Given the description of an element on the screen output the (x, y) to click on. 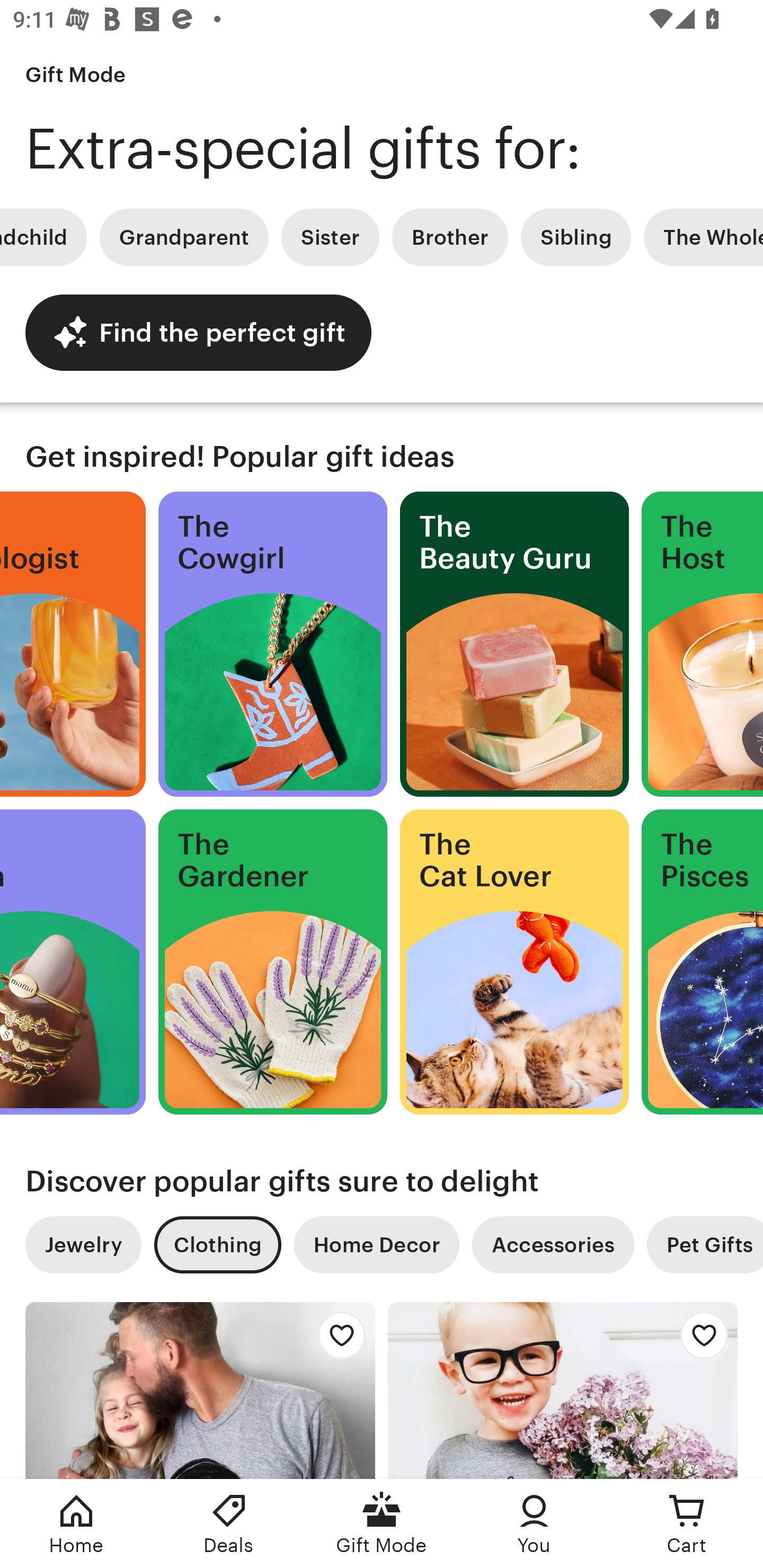
Grandparent (183, 237)
Sister (330, 237)
Brother (450, 237)
Sibling (576, 237)
Find the perfect gift (198, 332)
The Cowgirl (272, 644)
The Beauty Guru (513, 644)
The Host (702, 644)
The Gardener (272, 961)
The Cat Lover (513, 961)
The Pisces (702, 961)
Jewelry (83, 1244)
Clothing (217, 1244)
Home Decor (376, 1244)
Accessories (553, 1244)
Pet Gifts (705, 1244)
Home (76, 1523)
Deals (228, 1523)
You (533, 1523)
Cart (686, 1523)
